Given the description of an element on the screen output the (x, y) to click on. 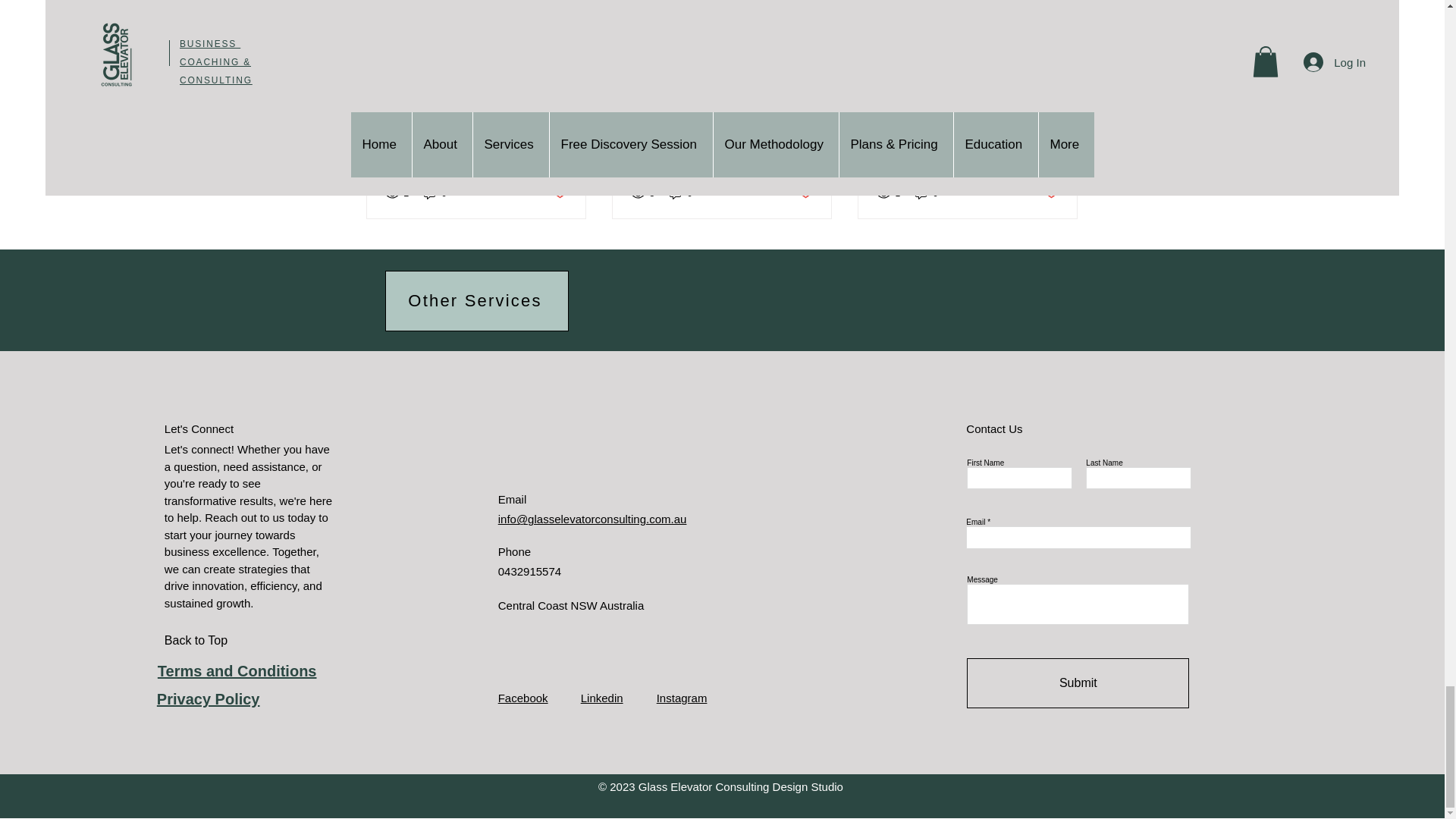
0 (681, 193)
0 (435, 193)
Post not marked as liked (804, 193)
Post not marked as liked (558, 193)
